Given the description of an element on the screen output the (x, y) to click on. 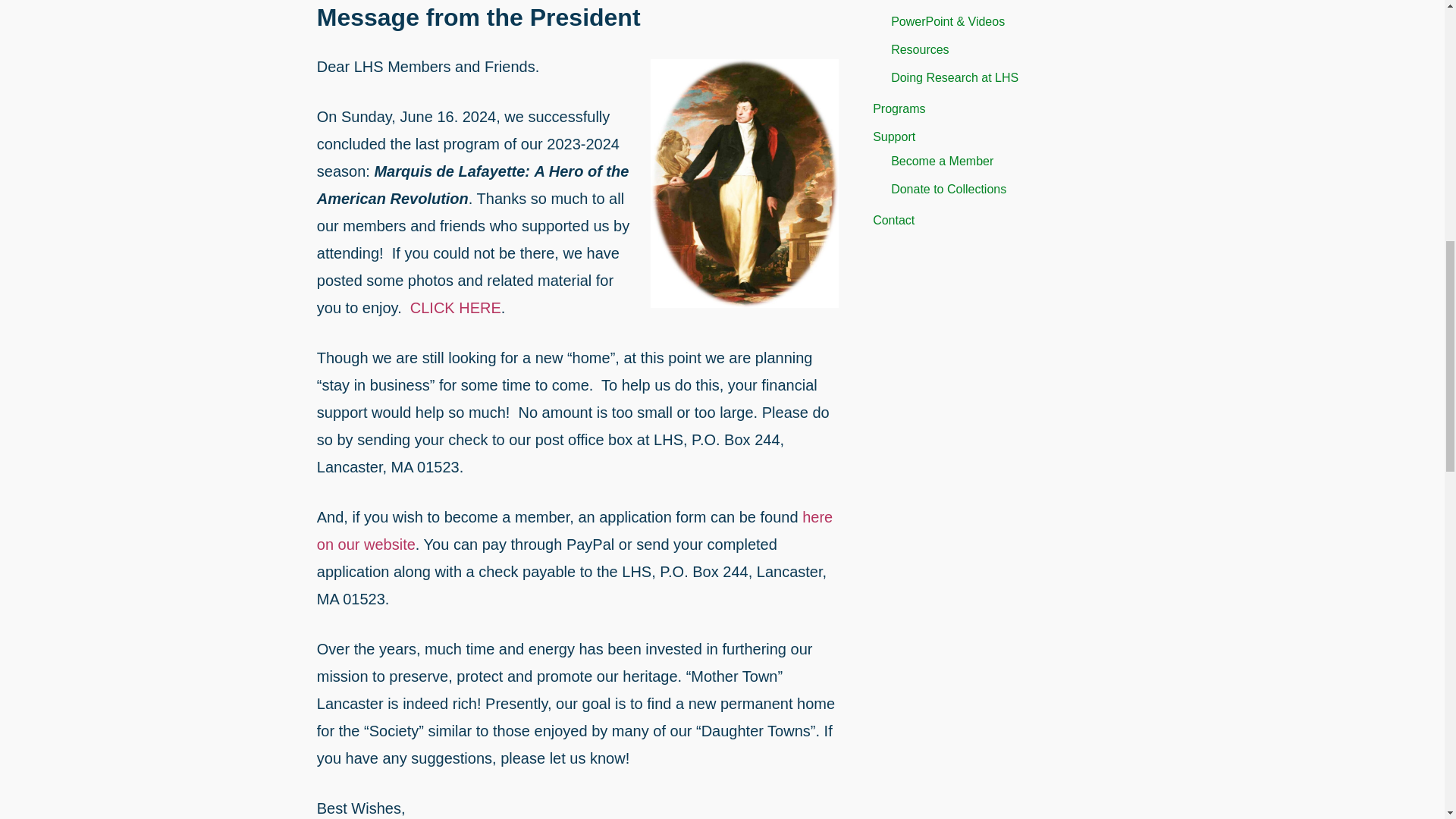
Become a Member (941, 160)
Resources (920, 49)
here on our website (574, 530)
Support (893, 136)
Exhibits (912, 0)
Doing Research at LHS (954, 77)
Programs (898, 108)
CLICK HERE (453, 307)
